Given the description of an element on the screen output the (x, y) to click on. 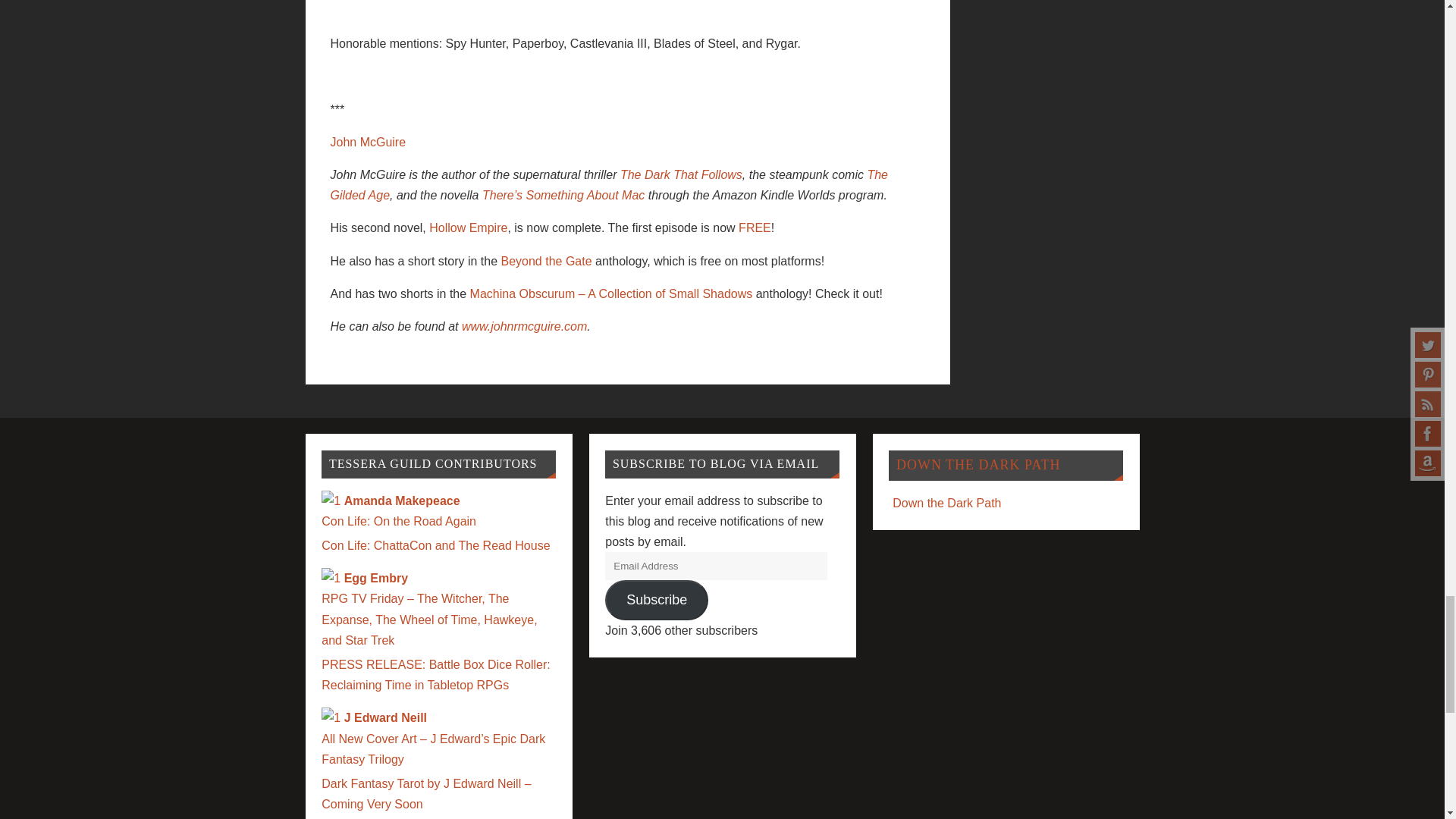
The Gilded Age (609, 184)
Hollow Empire (467, 227)
The Dark That Follows (681, 174)
FREE (754, 227)
John McGuire (368, 141)
